Given the description of an element on the screen output the (x, y) to click on. 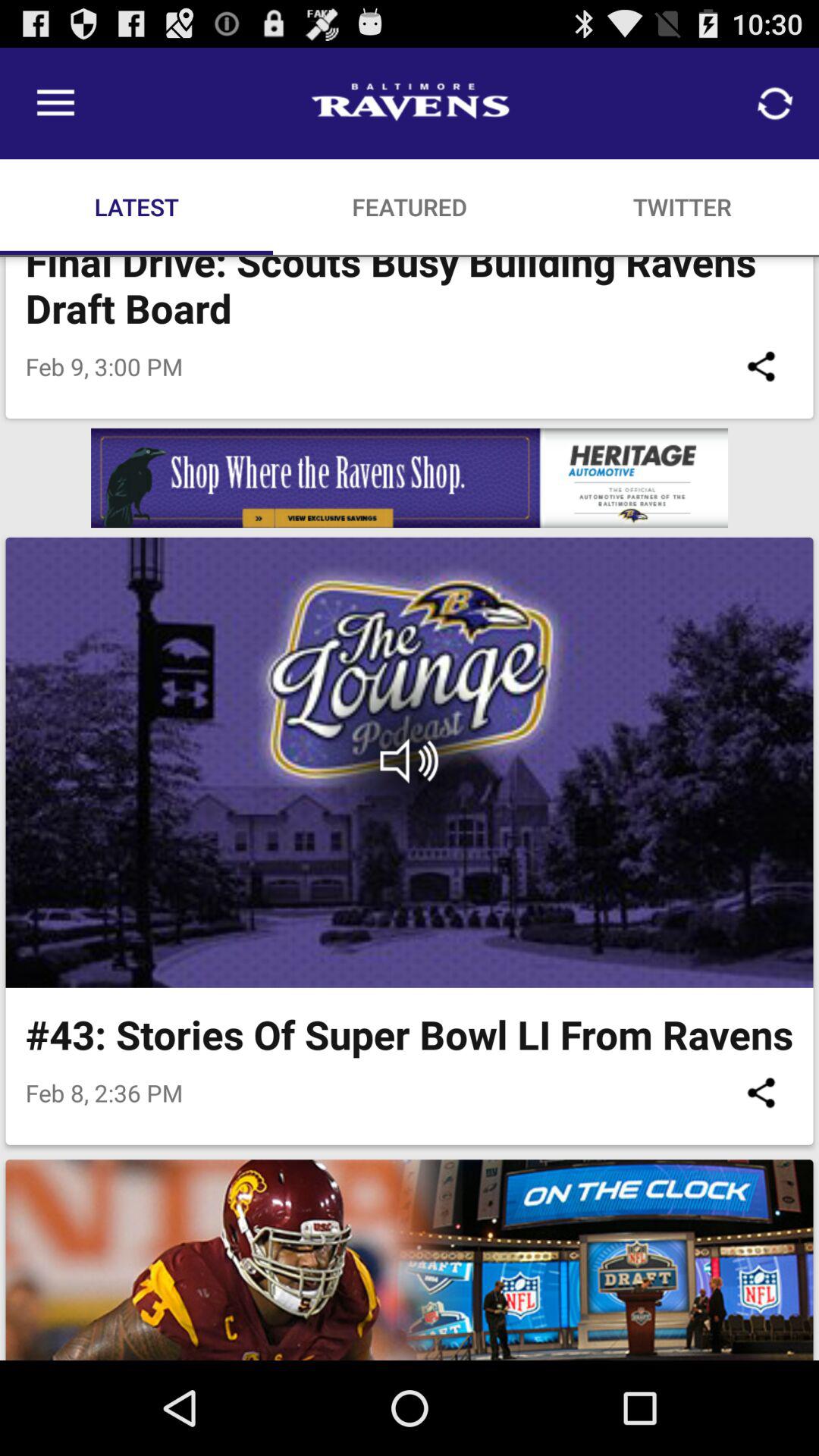
press item above latest item (55, 103)
